Given the description of an element on the screen output the (x, y) to click on. 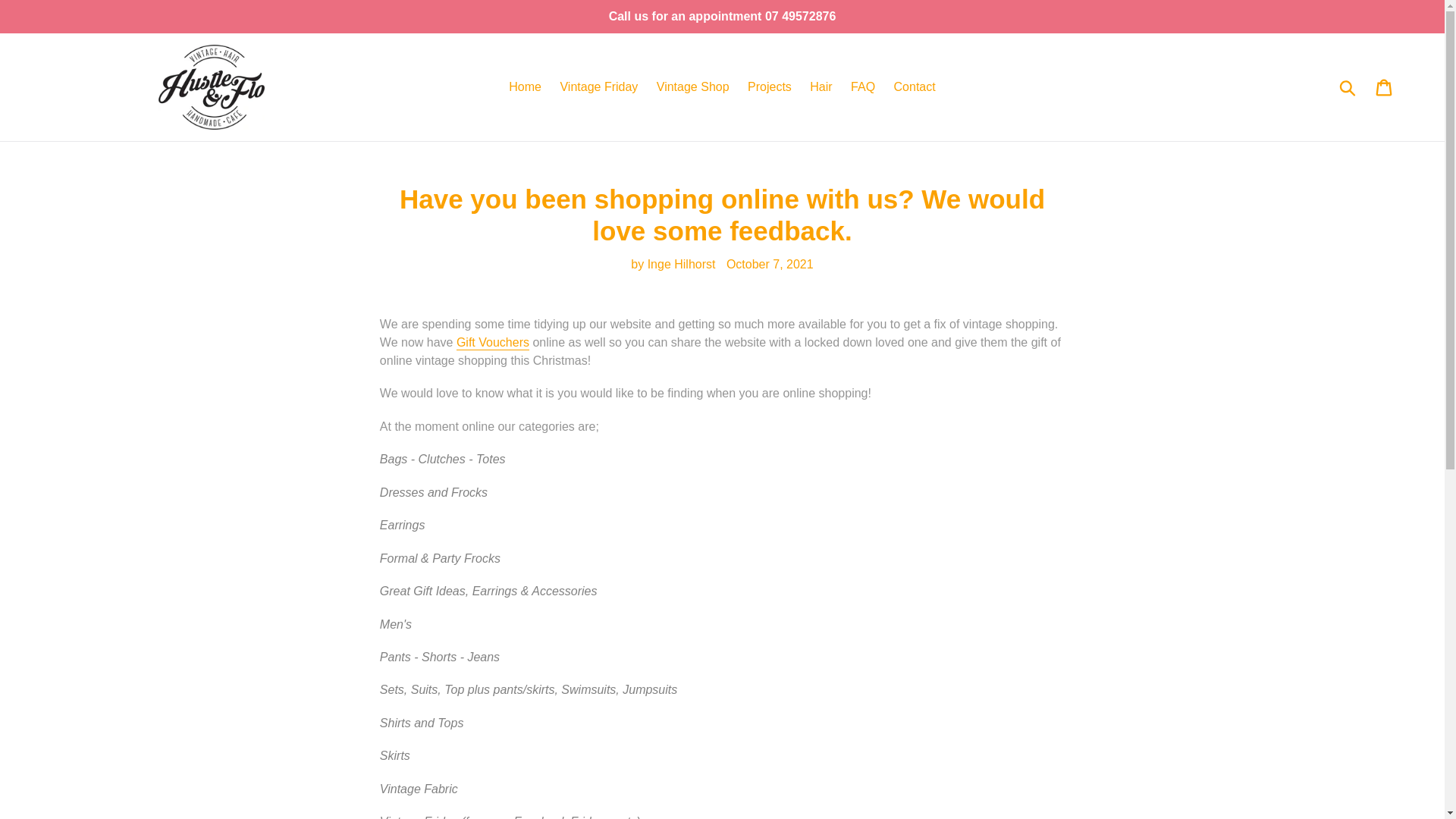
Vintage Friday (598, 87)
Gift Vouchers (493, 342)
Gift Vouchers (493, 342)
Vintage Shop (692, 87)
Cart (1385, 87)
FAQ (862, 87)
Hair (821, 87)
Contact (914, 87)
Home (524, 87)
Projects (769, 87)
Submit (1348, 87)
